Given the description of an element on the screen output the (x, y) to click on. 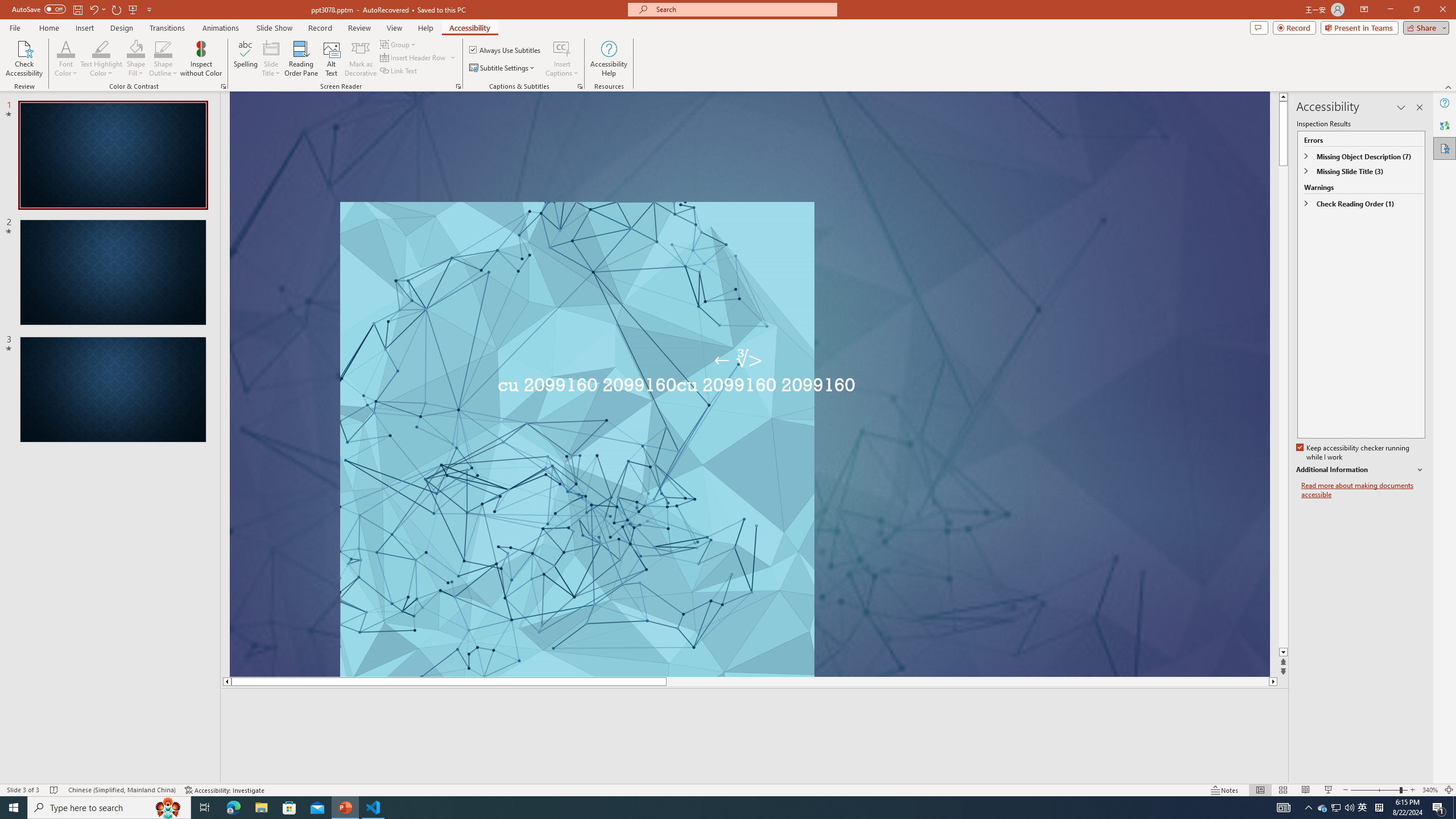
Reading Order Pane (301, 58)
Insert Captions (561, 58)
Slide Title (271, 58)
Subtitle Settings (502, 67)
An abstract genetic concept (761, 395)
